Given the description of an element on the screen output the (x, y) to click on. 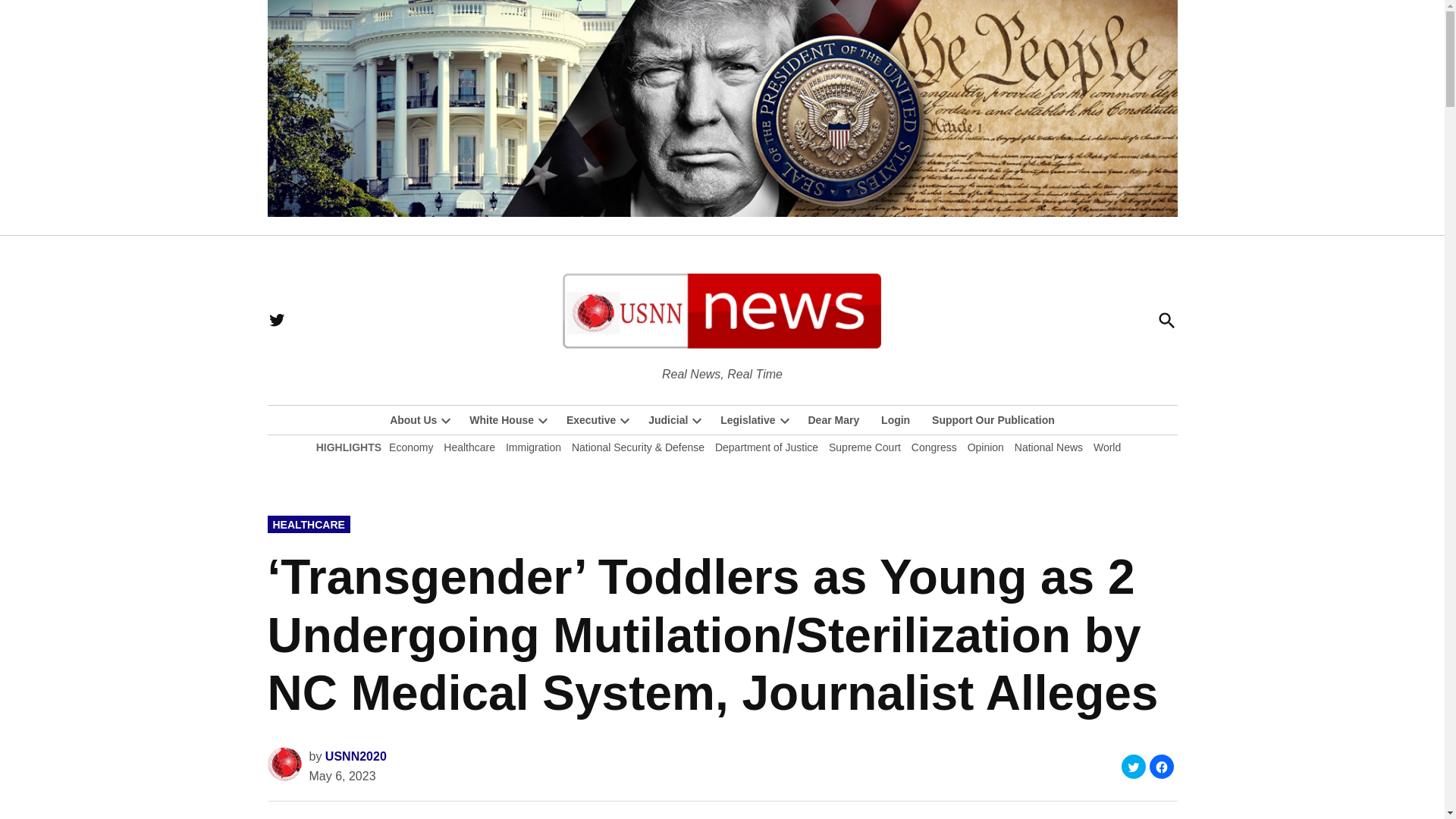
USNN World News (815, 373)
White House (497, 419)
Open dropdown menu (542, 419)
Executive (587, 419)
Click to share on Twitter (1132, 766)
Click to share on Facebook (1161, 766)
Open dropdown menu (624, 419)
Open dropdown menu (445, 419)
Twitter (275, 320)
About Us (413, 419)
